Given the description of an element on the screen output the (x, y) to click on. 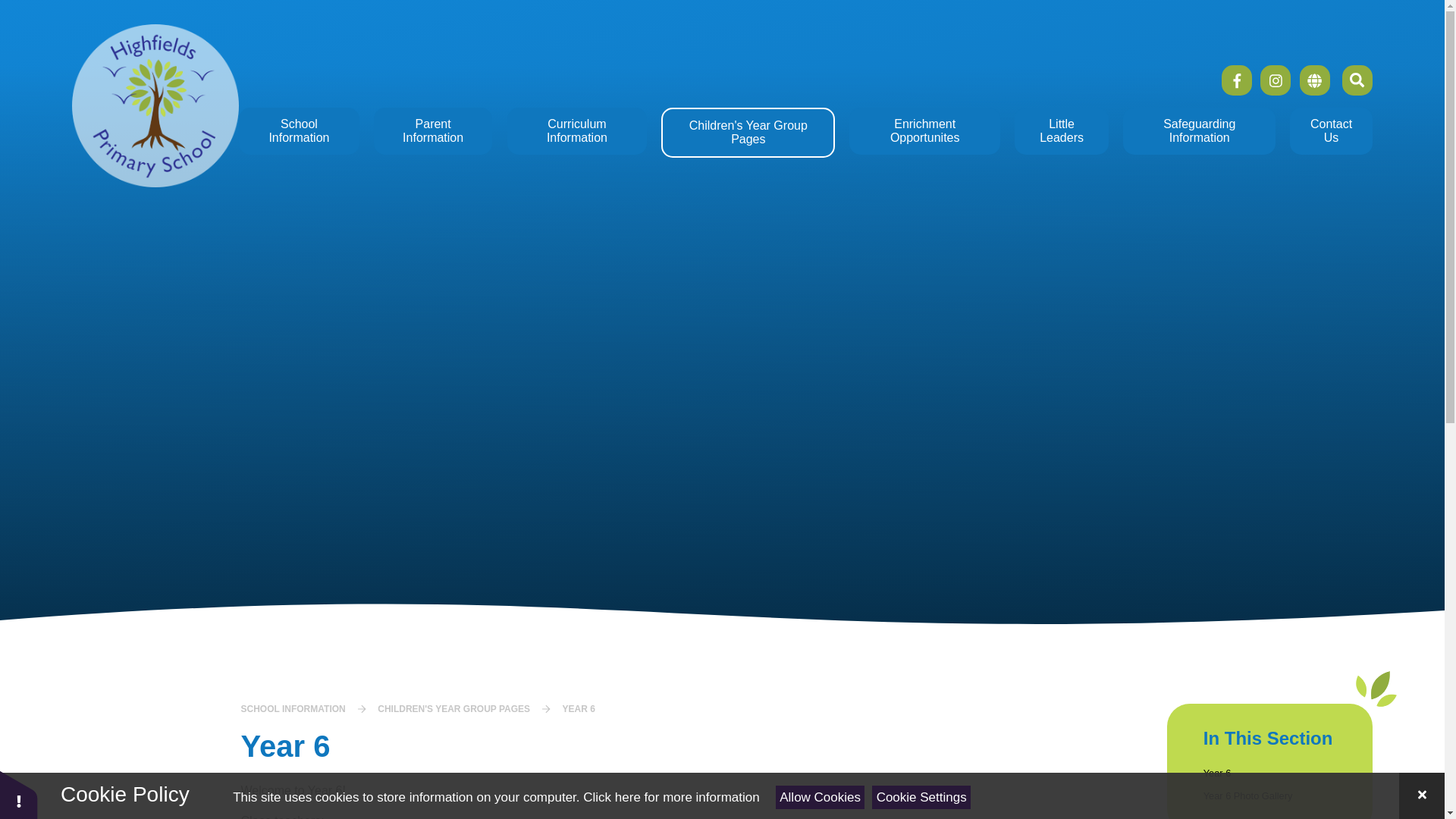
School Information (298, 130)
